Given the description of an element on the screen output the (x, y) to click on. 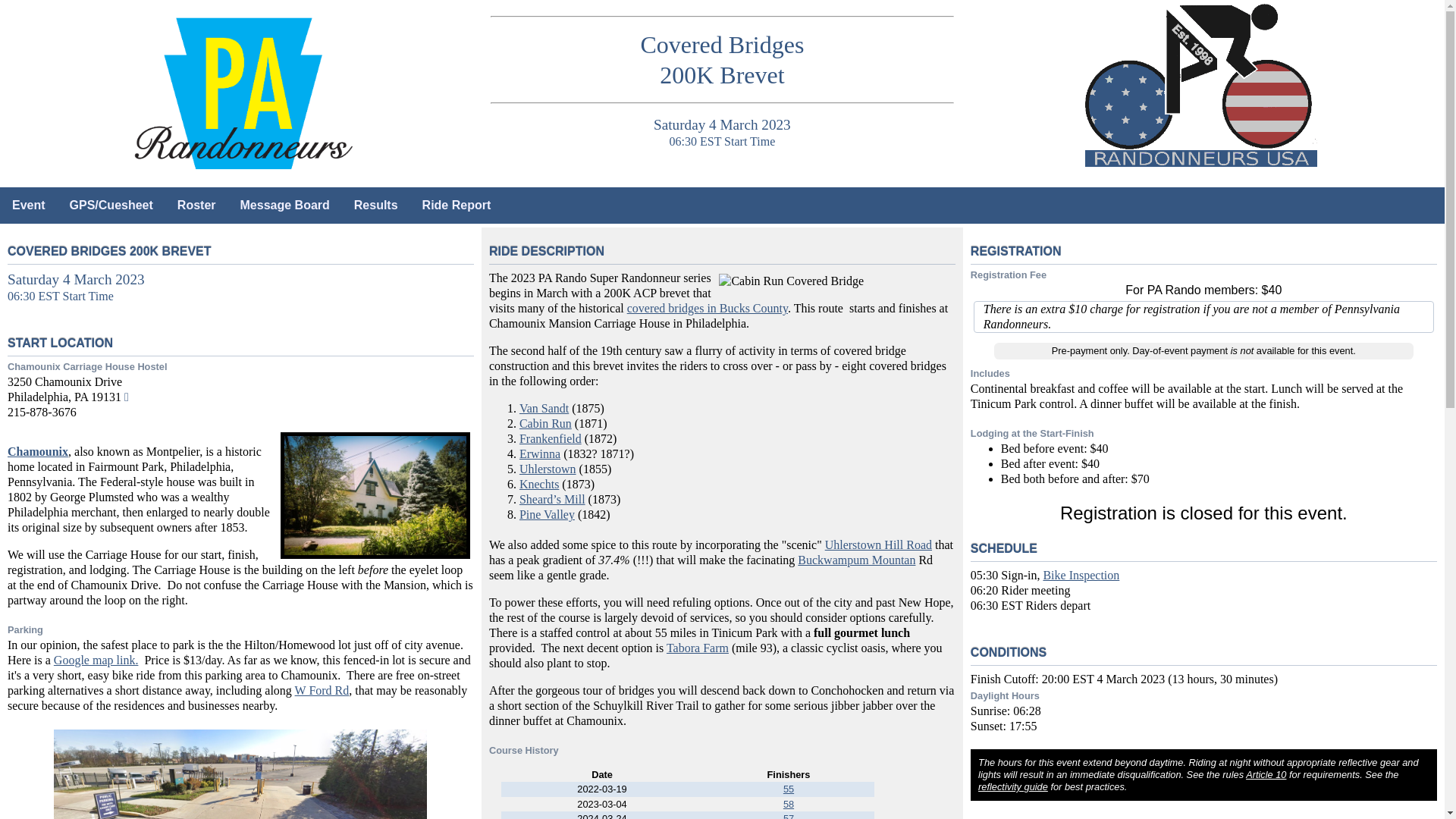
Pine Valley (547, 513)
Knechts (539, 483)
Frankenfield (549, 438)
57 (788, 816)
Detailed Results (788, 803)
Ride Report (456, 205)
Chamounix (37, 451)
Van Sandt (544, 408)
Unofficial Results (376, 205)
Ride Report (456, 205)
Uhlerstown Hill Road (878, 544)
Cabin Run (545, 422)
Tabora Farm (697, 647)
Results (376, 205)
55 (788, 788)
